Given the description of an element on the screen output the (x, y) to click on. 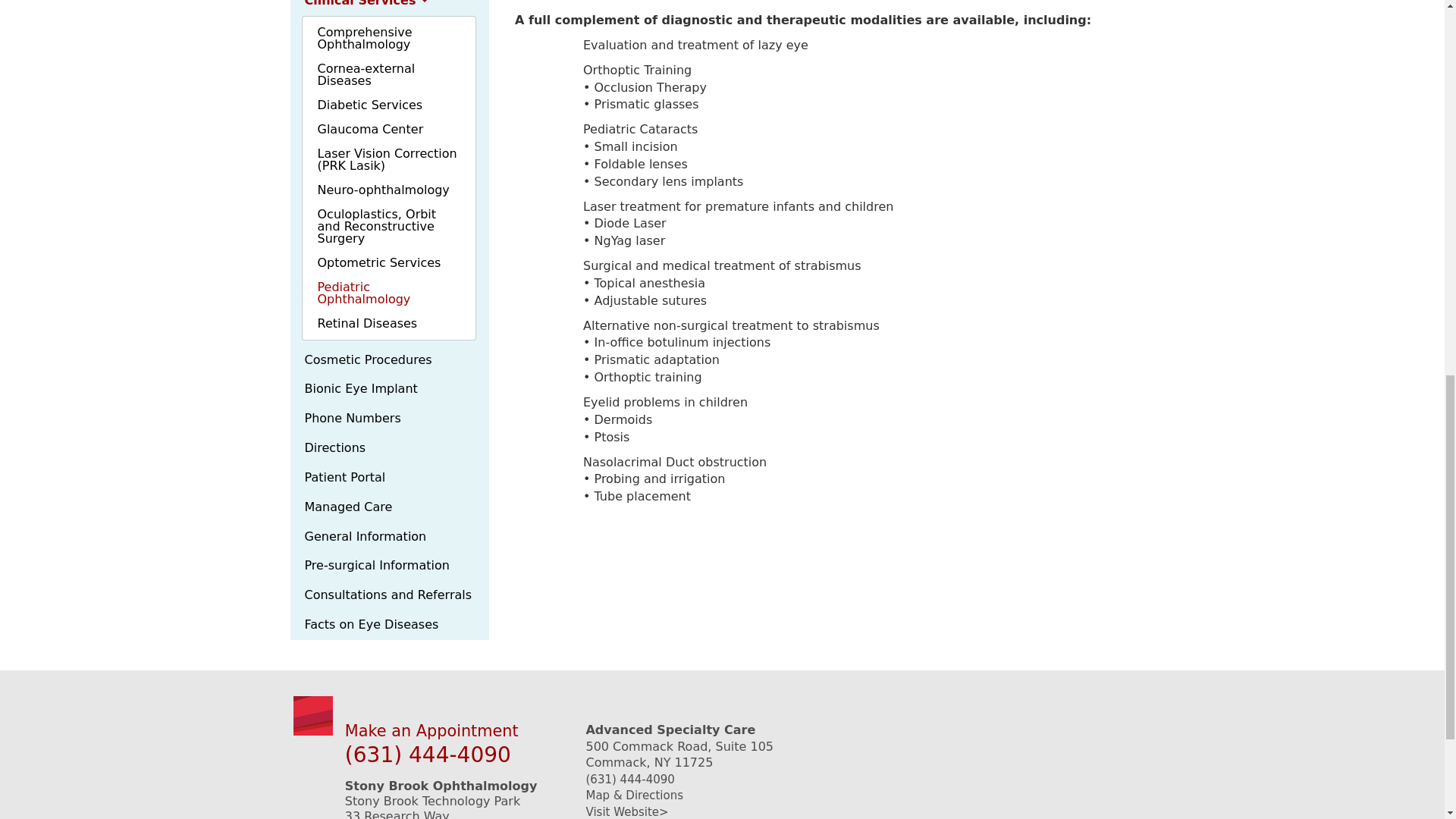
Phone Numbers (389, 419)
General Information (389, 537)
Pre-surgical Information (389, 565)
Neuro-ophthalmology (387, 190)
Retinal Diseases (387, 323)
Directions (389, 448)
Pediatric Ophthalmology (387, 293)
Bionic Eye Implant (389, 389)
Comprehensive Ophthalmology (387, 38)
Facts on Eye Diseases (389, 624)
Optometric Services (387, 262)
Cornea-external Diseases (387, 74)
Diabetic Services (387, 105)
Clinical Services (389, 7)
Patient Portal (389, 478)
